Given the description of an element on the screen output the (x, y) to click on. 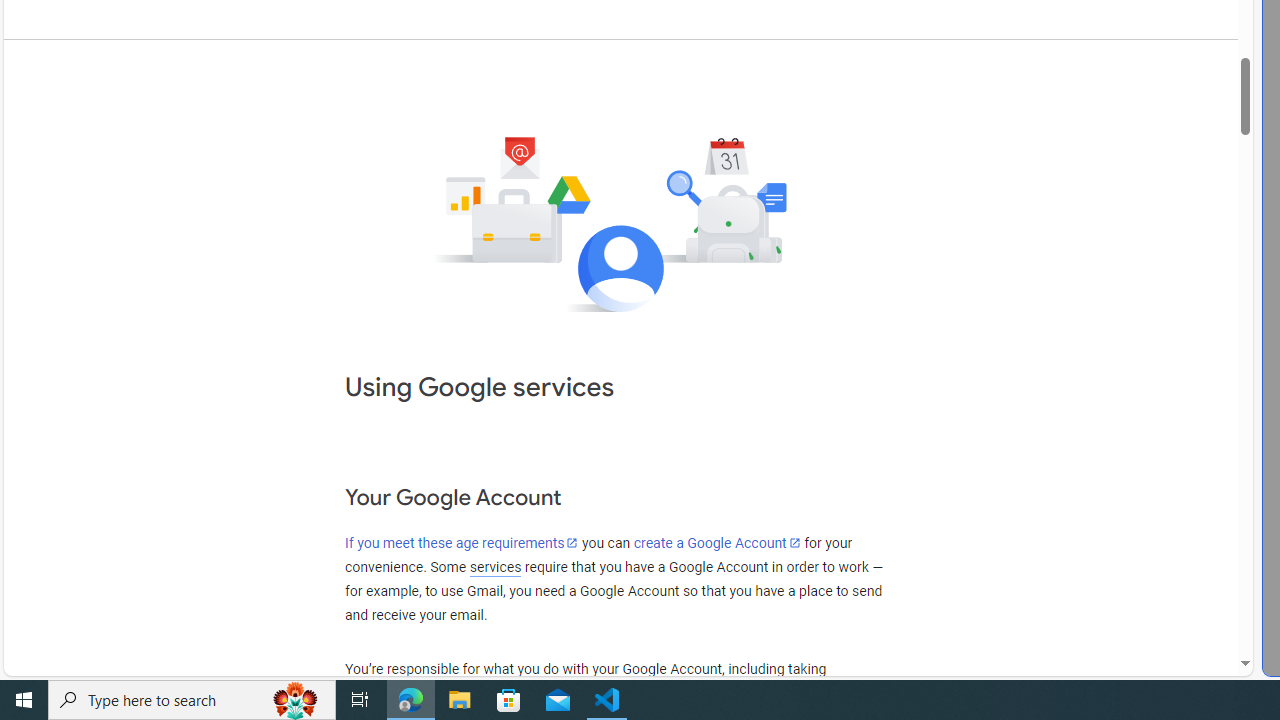
Task View (359, 699)
Microsoft Store (509, 699)
Search highlights icon opens search home window (295, 699)
Visual Studio Code - 1 running window (607, 699)
File Explorer (460, 699)
Microsoft Edge - 1 running window (411, 699)
Type here to search (191, 699)
Start (24, 699)
